Given the description of an element on the screen output the (x, y) to click on. 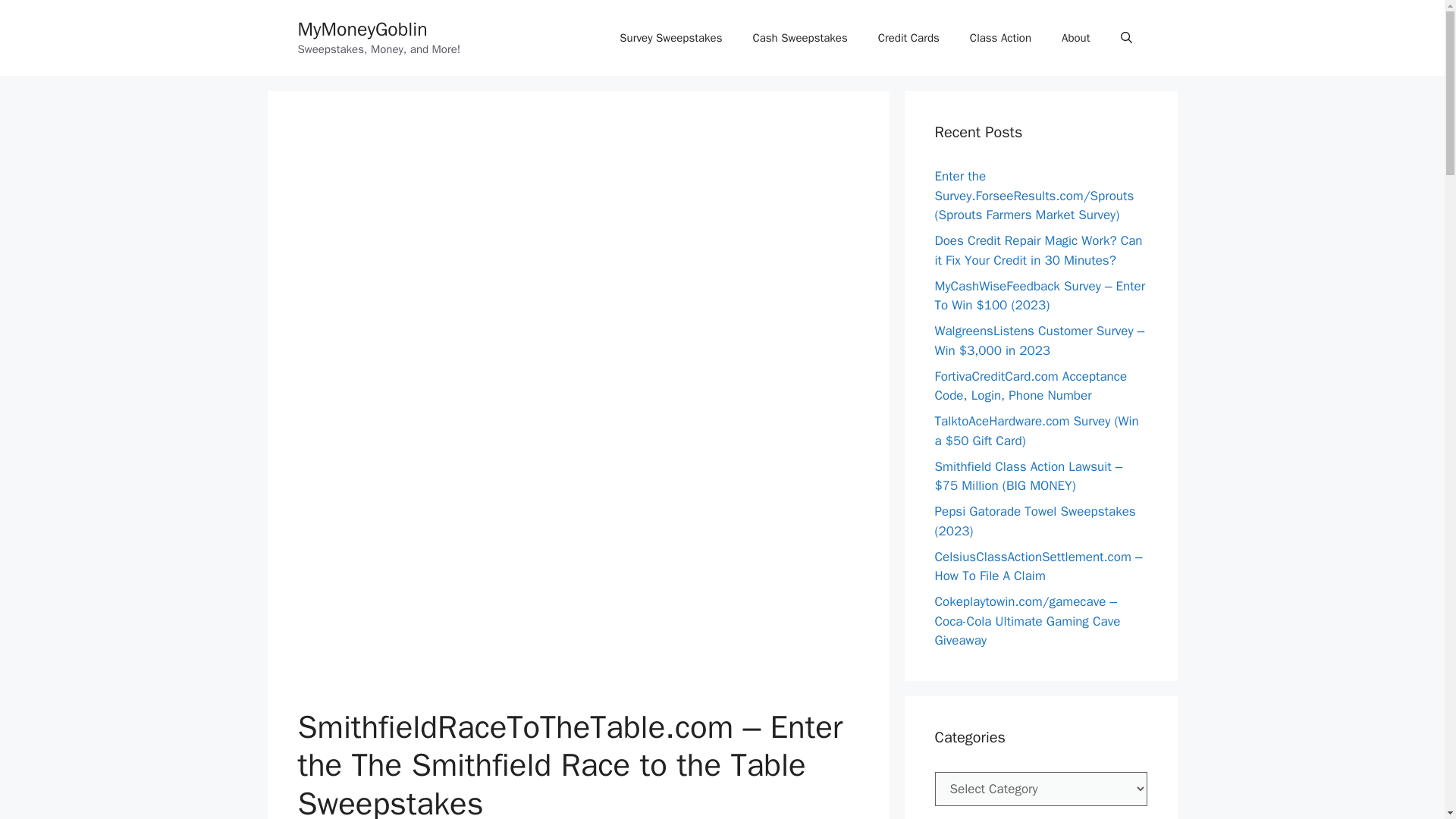
Class Action (1000, 37)
MyMoneyGoblin (361, 28)
Cash Sweepstakes (798, 37)
About (1075, 37)
Survey Sweepstakes (670, 37)
FortivaCreditCard.com Acceptance Code, Login, Phone Number (1030, 386)
Credit Cards (909, 37)
